Given the description of an element on the screen output the (x, y) to click on. 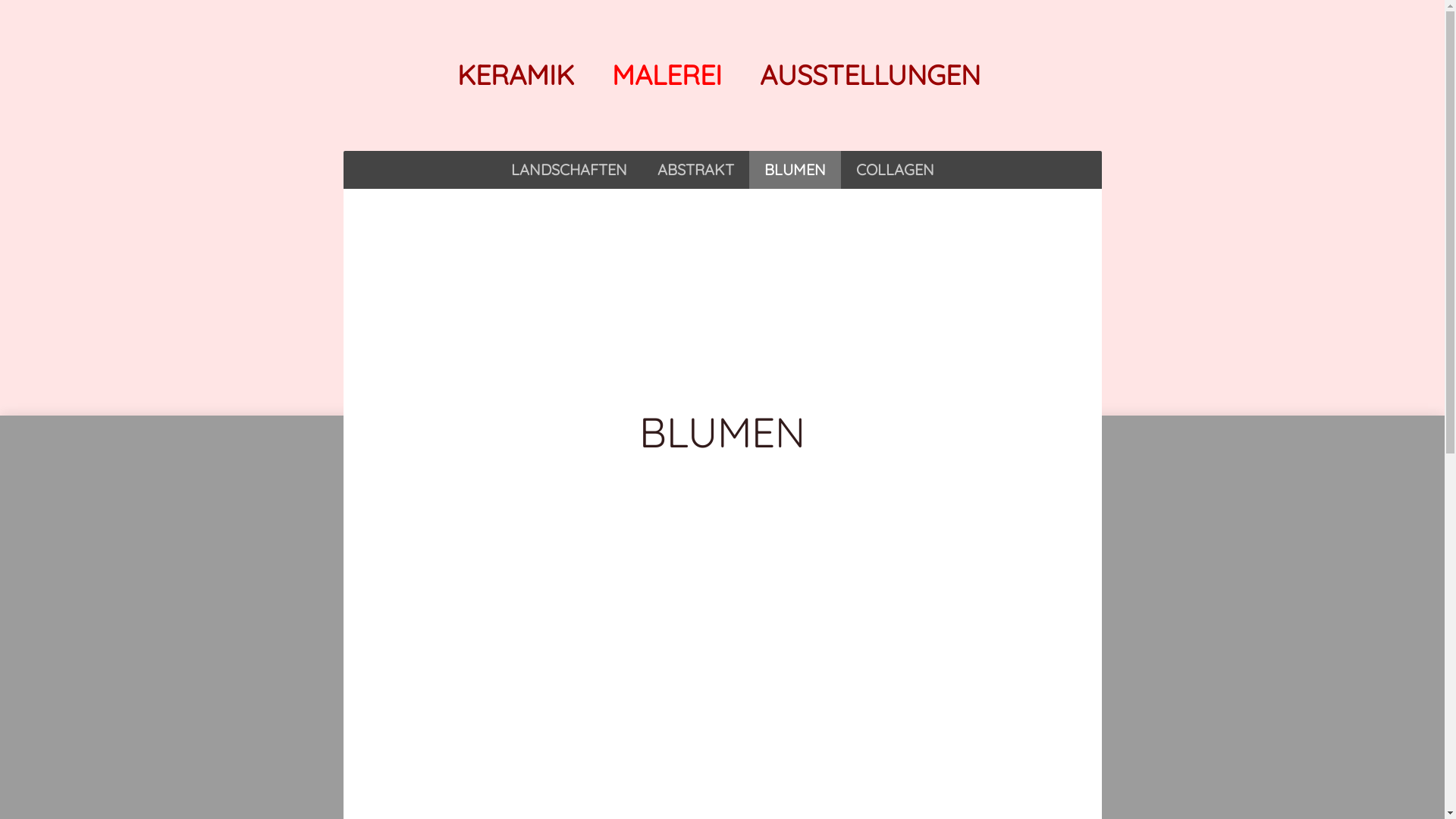
MALEREI Element type: text (666, 74)
BLUMEN Element type: text (794, 169)
COLLAGEN Element type: text (894, 169)
AUSSTELLUNGEN Element type: text (869, 74)
KERAMIK Element type: text (514, 74)
ABSTRAKT Element type: text (694, 169)
LANDSCHAFTEN Element type: text (568, 169)
